Given the description of an element on the screen output the (x, y) to click on. 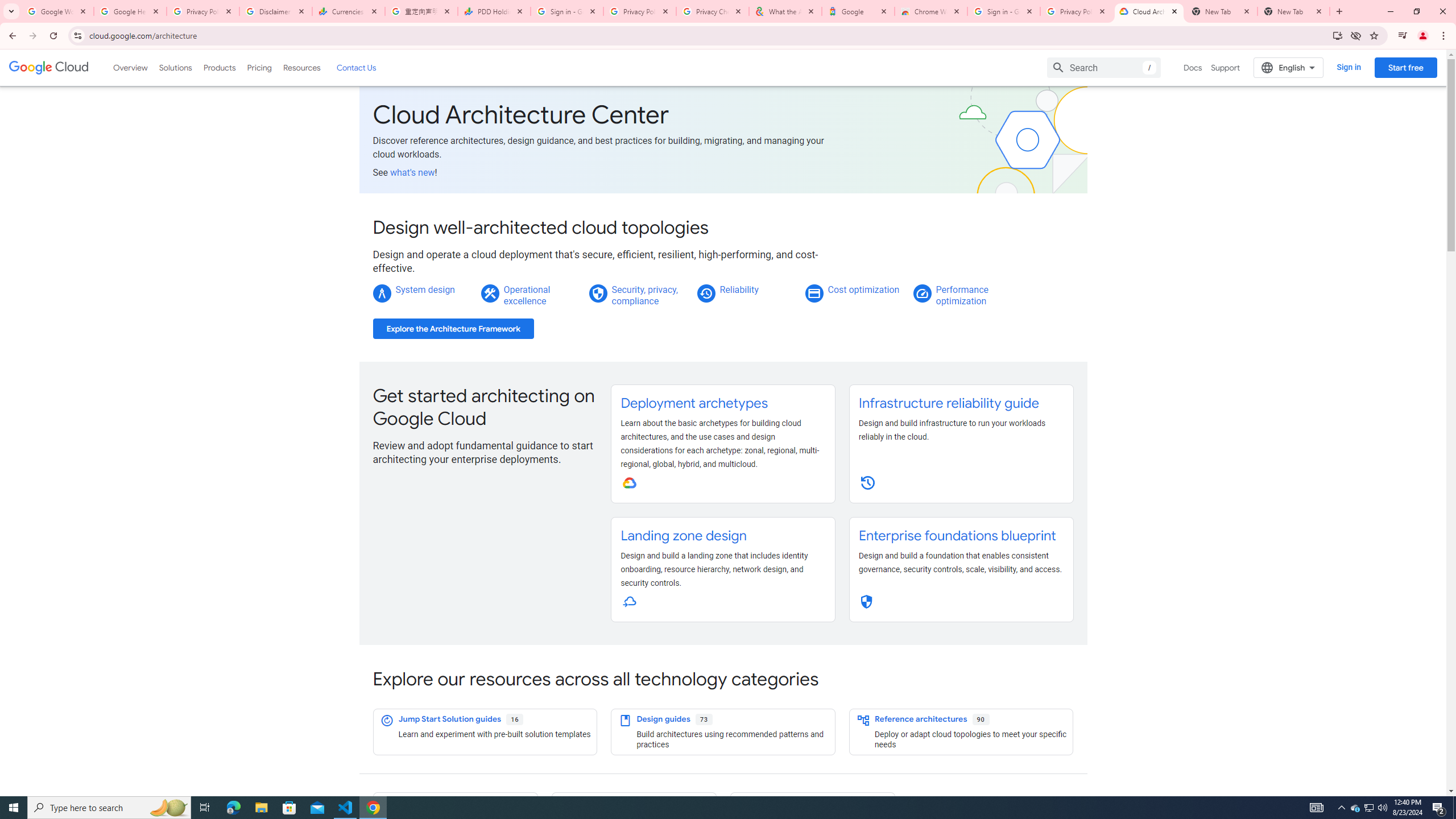
Google (857, 11)
Solutions (175, 67)
Resources (301, 67)
Performance optimization (962, 295)
Chrome Web Store - Color themes by Chrome (930, 11)
Contact Us (355, 67)
Explore the Architecture Framework (453, 328)
Currencies - Google Finance (348, 11)
